Given the description of an element on the screen output the (x, y) to click on. 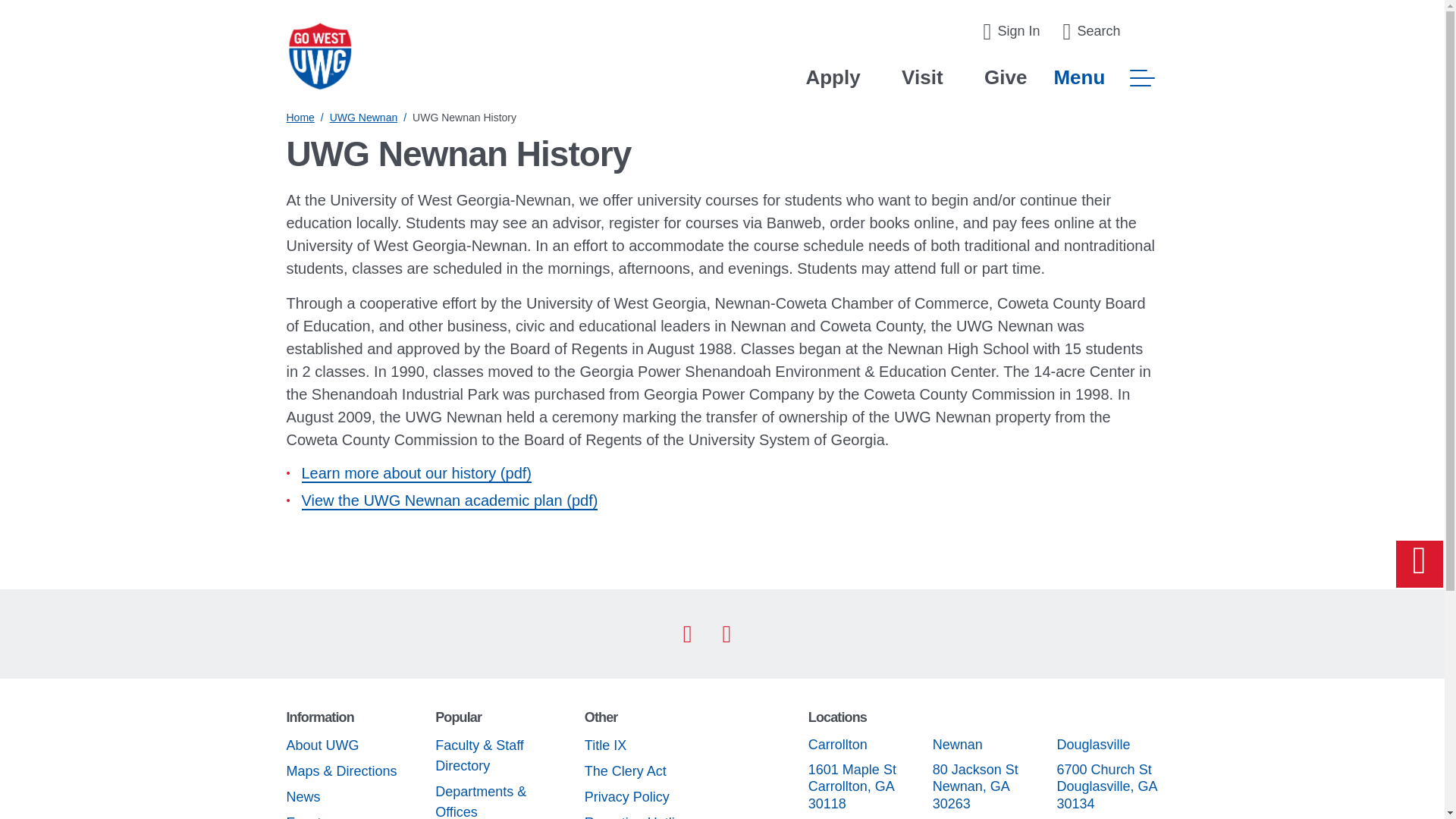
Apply (832, 77)
Sign In (1010, 32)
Give (1005, 77)
Search (1090, 32)
Home (300, 117)
Visit (921, 77)
Menu (1104, 77)
